Given the description of an element on the screen output the (x, y) to click on. 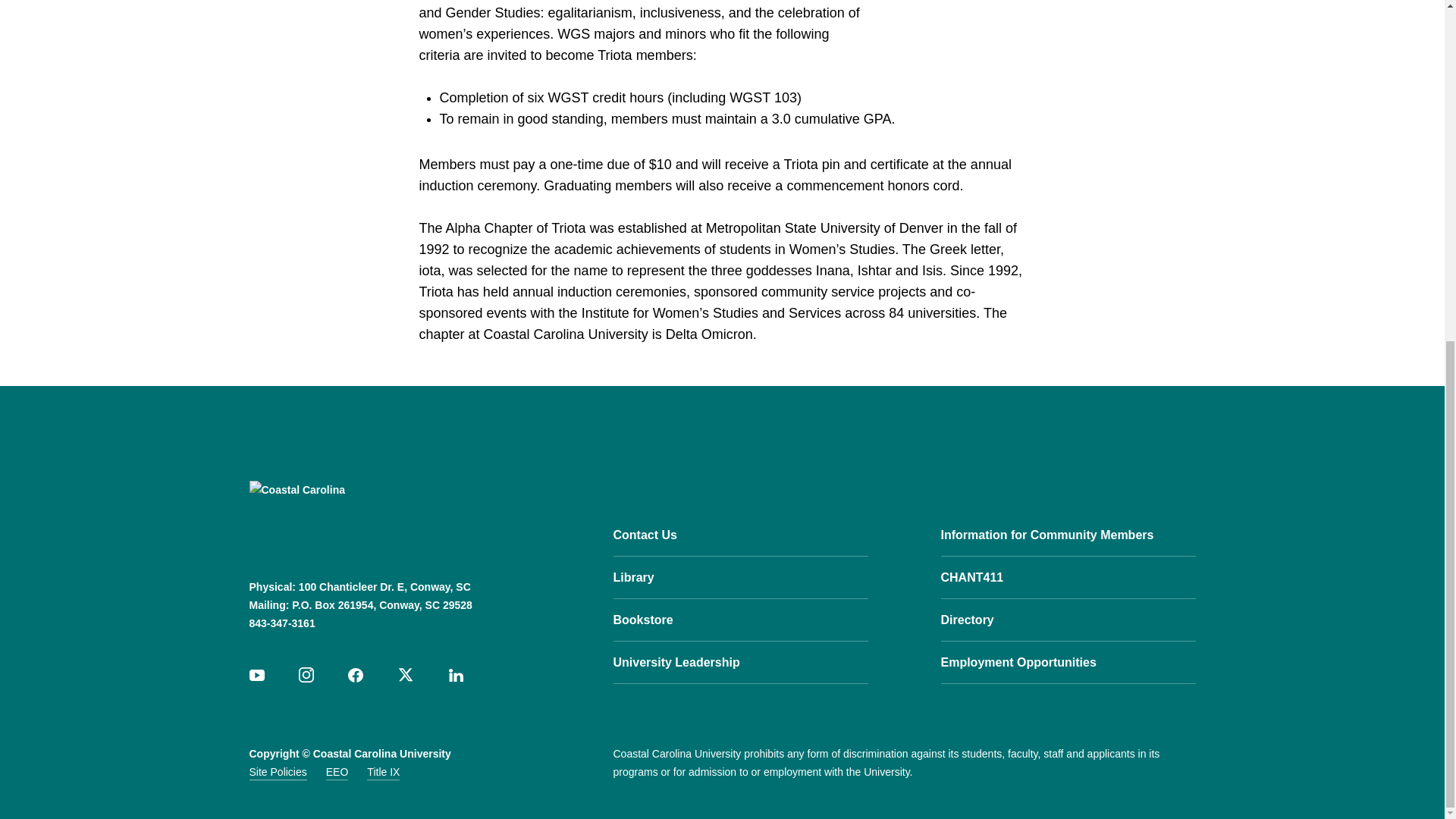
Link to Coastal Carolina University Library (739, 577)
Link to CCU Bookstore (739, 619)
Coastal Carolina (344, 517)
